Given the description of an element on the screen output the (x, y) to click on. 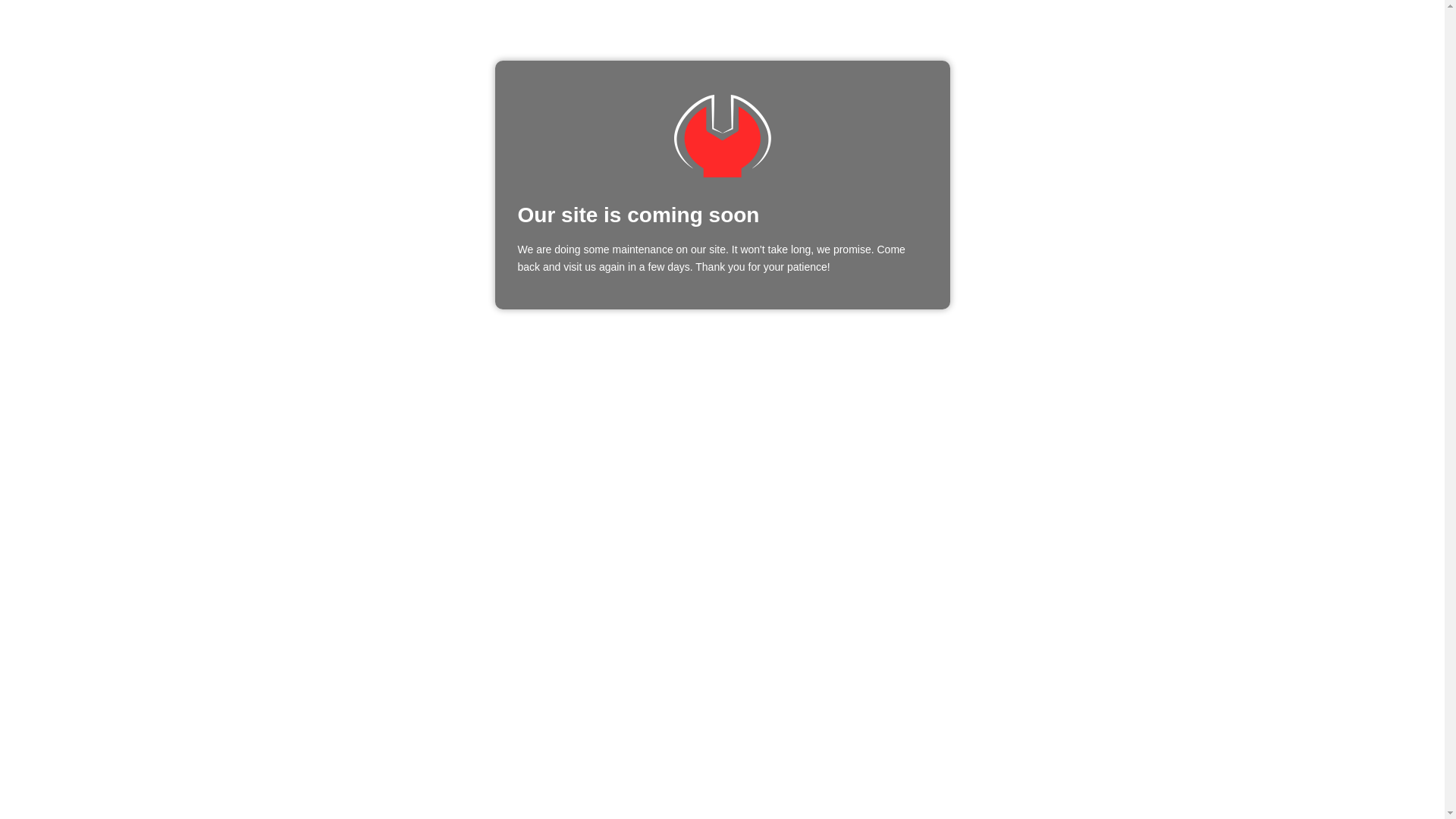
Design for Wellbeing Element type: hover (721, 135)
